Given the description of an element on the screen output the (x, y) to click on. 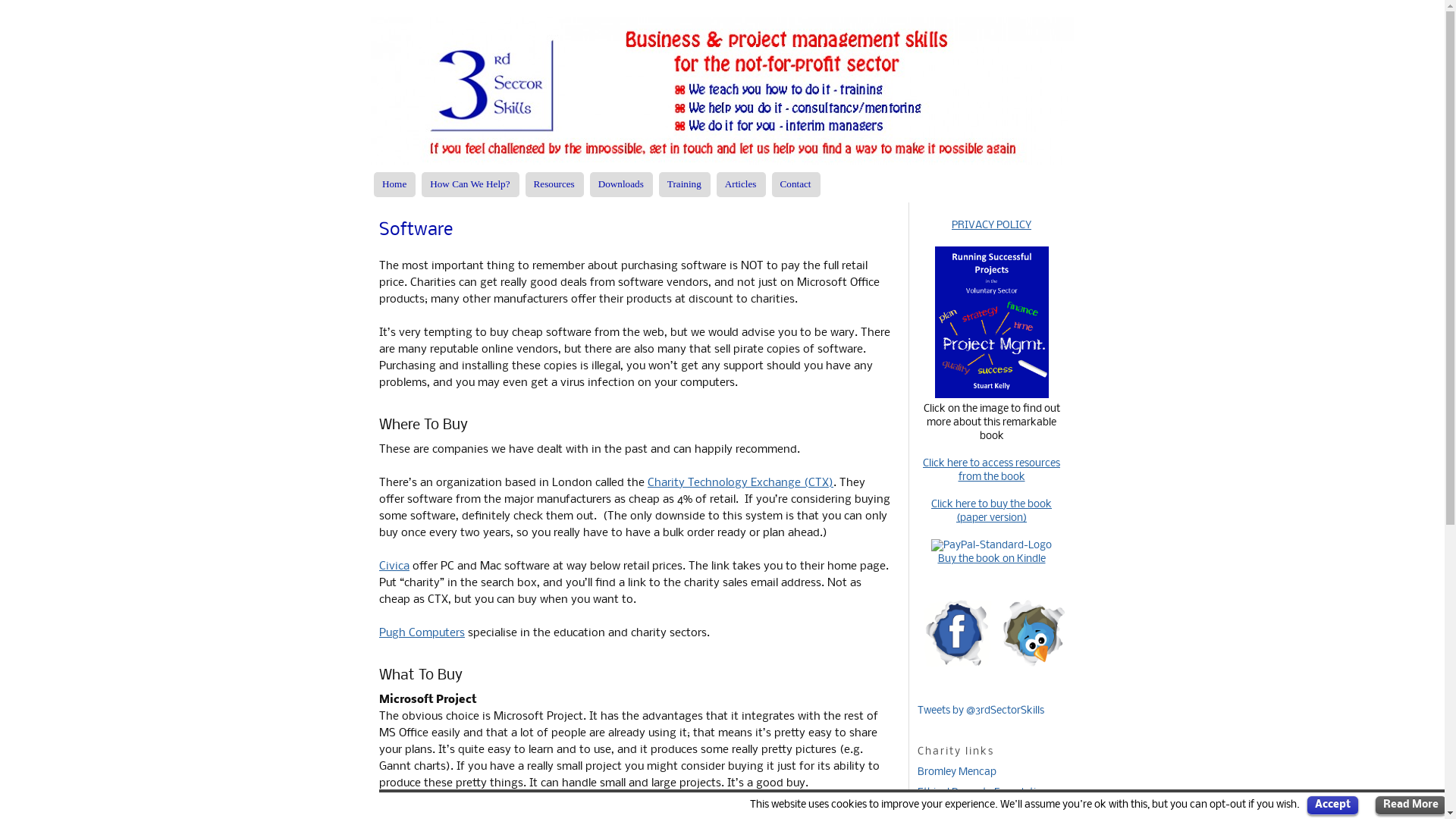
Link opens in a new window Element type: hover (991, 395)
Buy the book on Kindle Element type: text (990, 558)
Contact Element type: text (795, 184)
Training Element type: text (684, 184)
Accept Element type: text (1332, 805)
Charity Technology Exchange (CTX) Element type: text (740, 482)
How Can We Help? Element type: text (469, 184)
Pugh Computers Element type: text (421, 633)
Bromley Mencap Element type: text (956, 772)
Downloads Element type: text (620, 184)
Tweets by @3rdSectorSkills Element type: text (980, 710)
Read More Element type: text (1410, 805)
Click here to buy the book (paper version) Element type: text (991, 511)
Resources Element type: text (554, 184)
Civica Element type: text (394, 566)
Home Element type: text (394, 184)
Ethical Property Foundation Element type: text (982, 792)
PRIVACY POLICY Element type: text (991, 225)
Click here to access resources from the book Element type: text (991, 470)
Articles Element type: text (740, 184)
3rd Sector Skills Element type: text (721, 90)
